Given the description of an element on the screen output the (x, y) to click on. 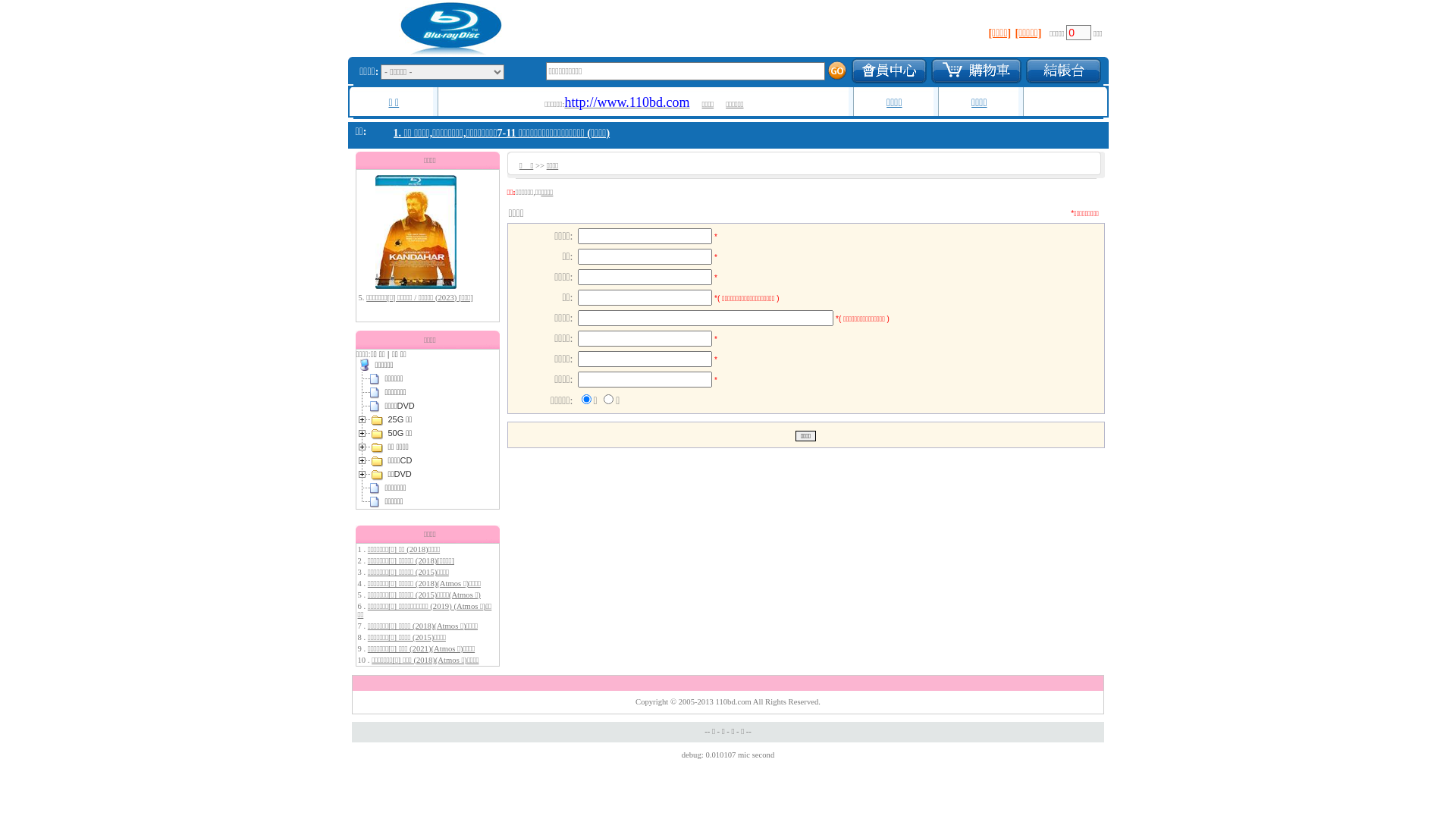
http://www.110bd.com Element type: text (626, 104)
